Given the description of an element on the screen output the (x, y) to click on. 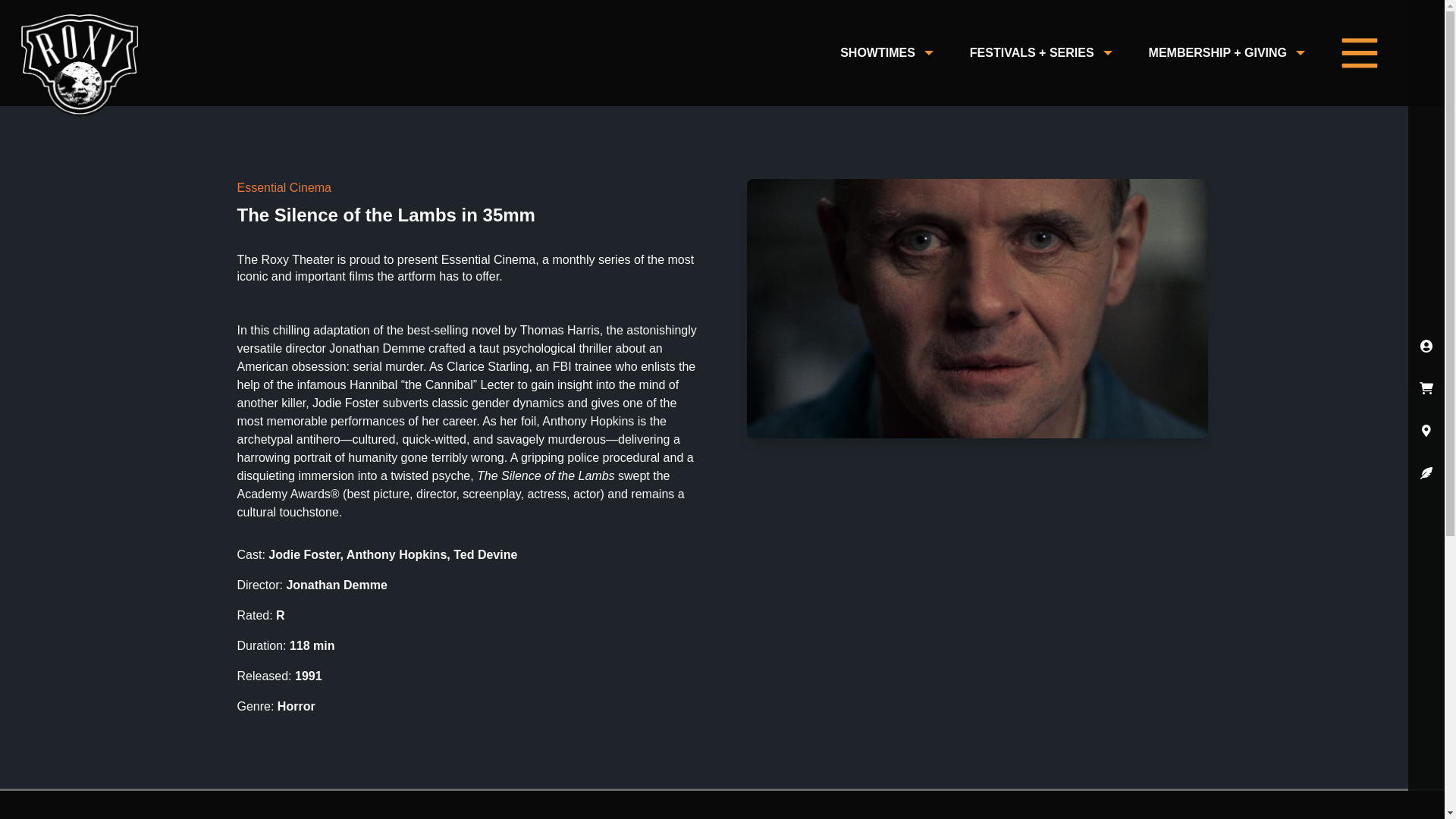
SHOWTIMES (887, 53)
